Given the description of an element on the screen output the (x, y) to click on. 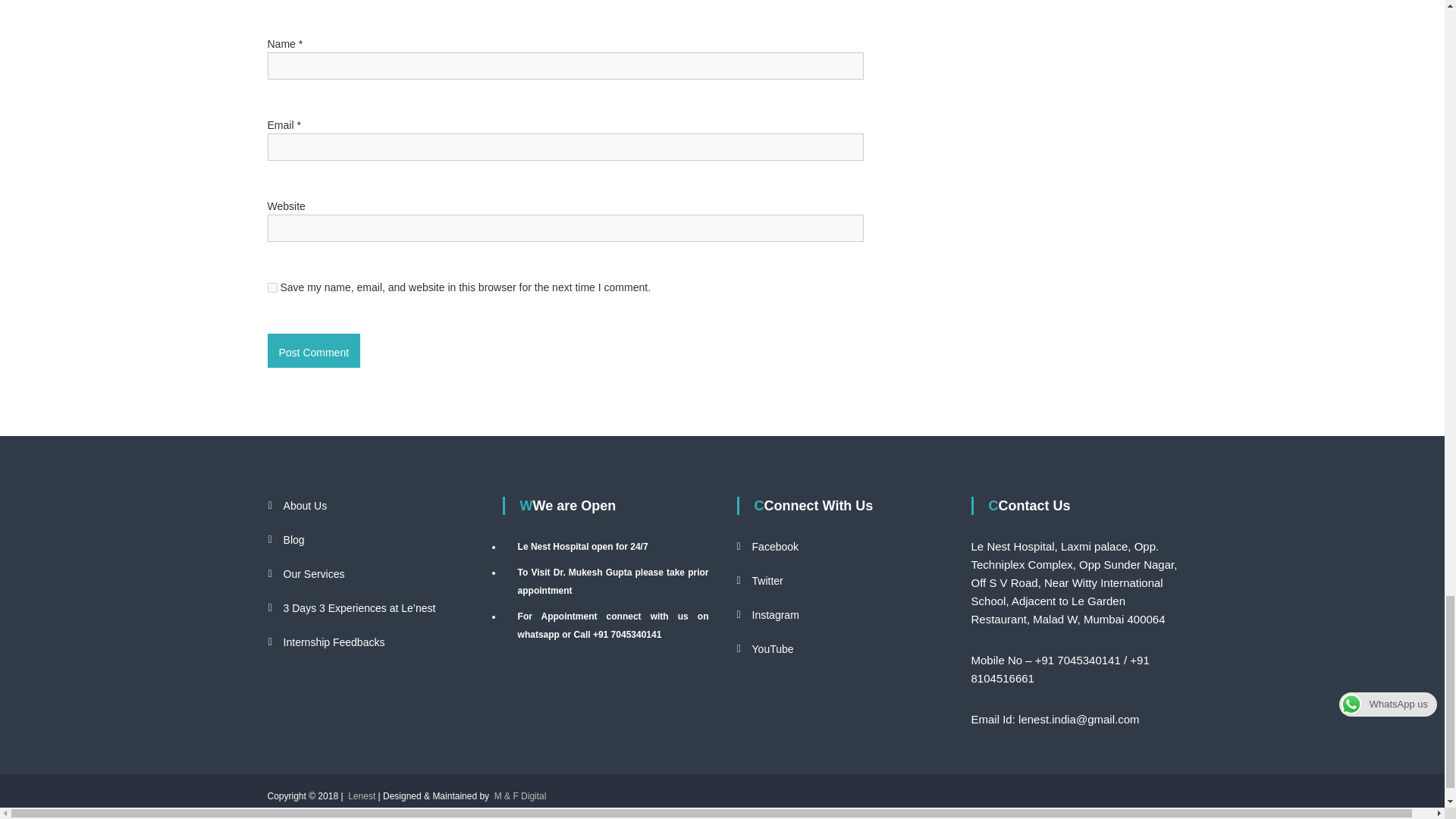
yes (271, 287)
Post Comment (312, 350)
